Given the description of an element on the screen output the (x, y) to click on. 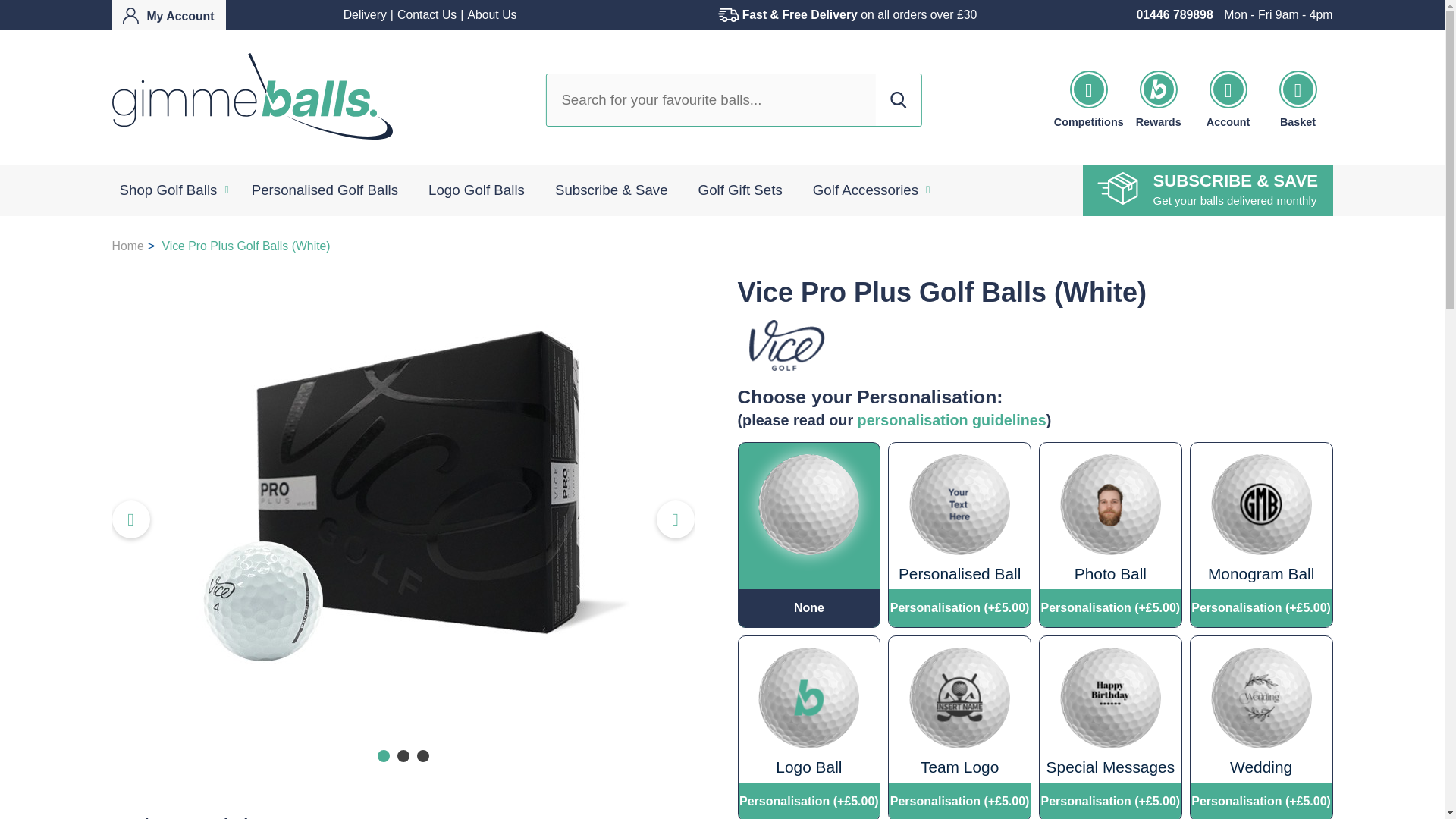
Golf Gift Sets (740, 190)
About Us (491, 14)
Contact Us (427, 14)
Account (168, 15)
Personalised Golf Balls (325, 190)
01446 789898 (1173, 14)
call us today on 01446 789898 (1173, 14)
About Us (491, 14)
gimmeballs (252, 97)
Shop Golf Balls (168, 190)
